Given the description of an element on the screen output the (x, y) to click on. 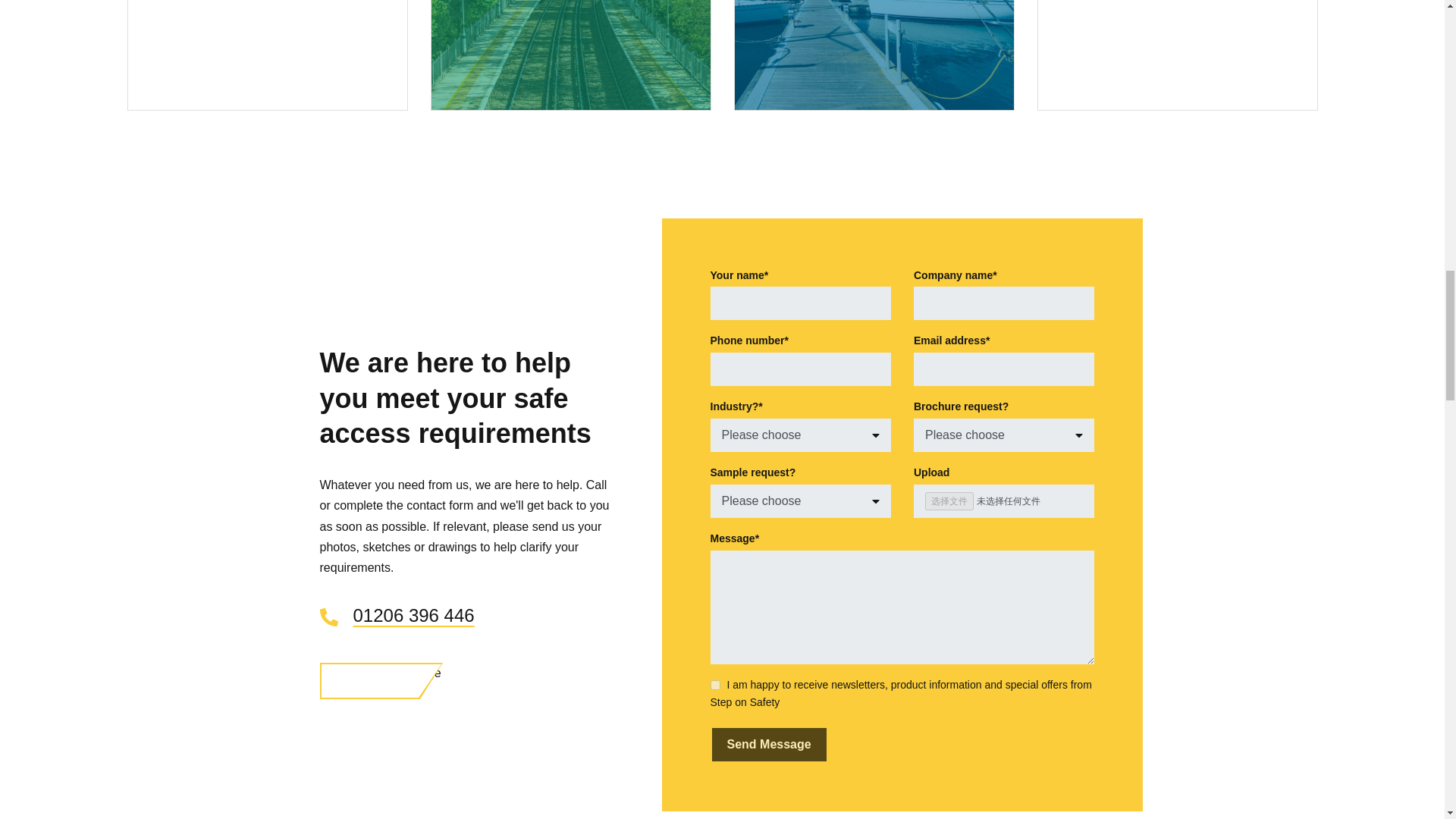
Send Message (768, 744)
